Given the description of an element on the screen output the (x, y) to click on. 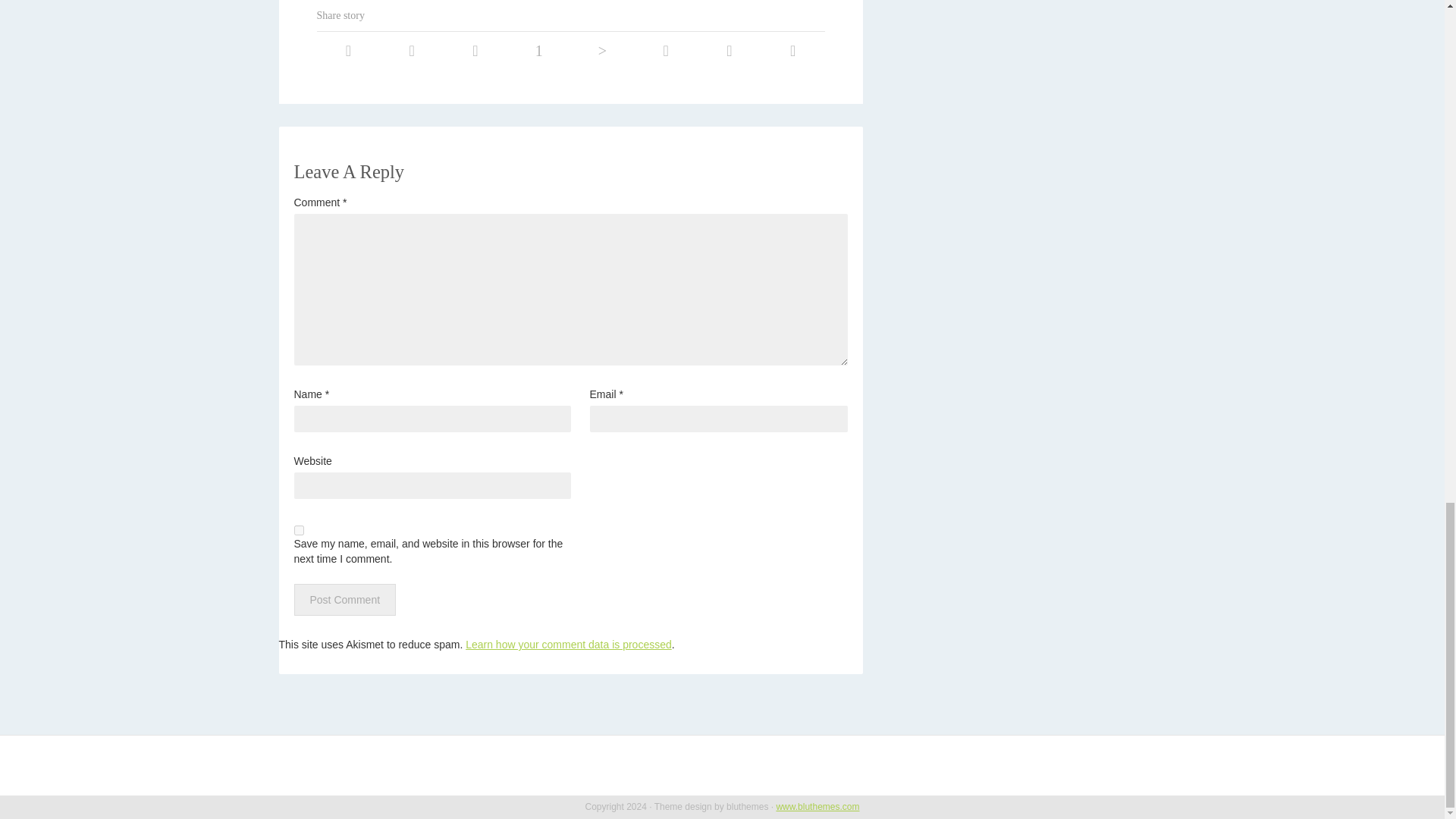
yes (299, 530)
Post Comment (345, 599)
